Given the description of an element on the screen output the (x, y) to click on. 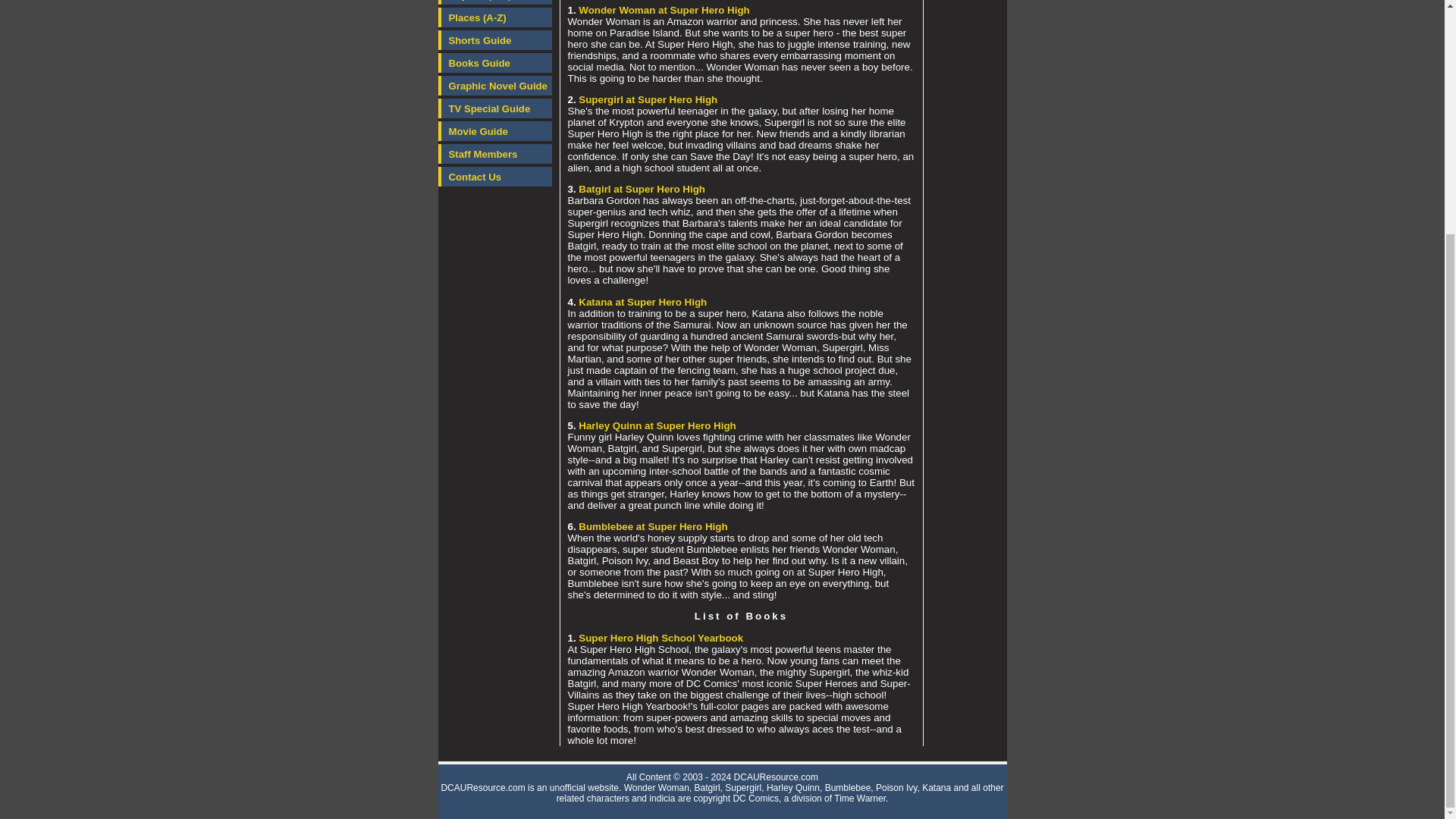
Katana at Super Hero High (642, 301)
TV Special Guide (494, 107)
Batgirl at Super Hero High (641, 188)
Books Guide (494, 62)
Graphic Novel Guide (494, 85)
Harley Quinn at Super Hero High (656, 425)
Contact Us (494, 176)
Movie Guide (494, 130)
Wonder Woman at Super Hero High (663, 9)
Bumblebee at Super Hero High (652, 526)
